Given the description of an element on the screen output the (x, y) to click on. 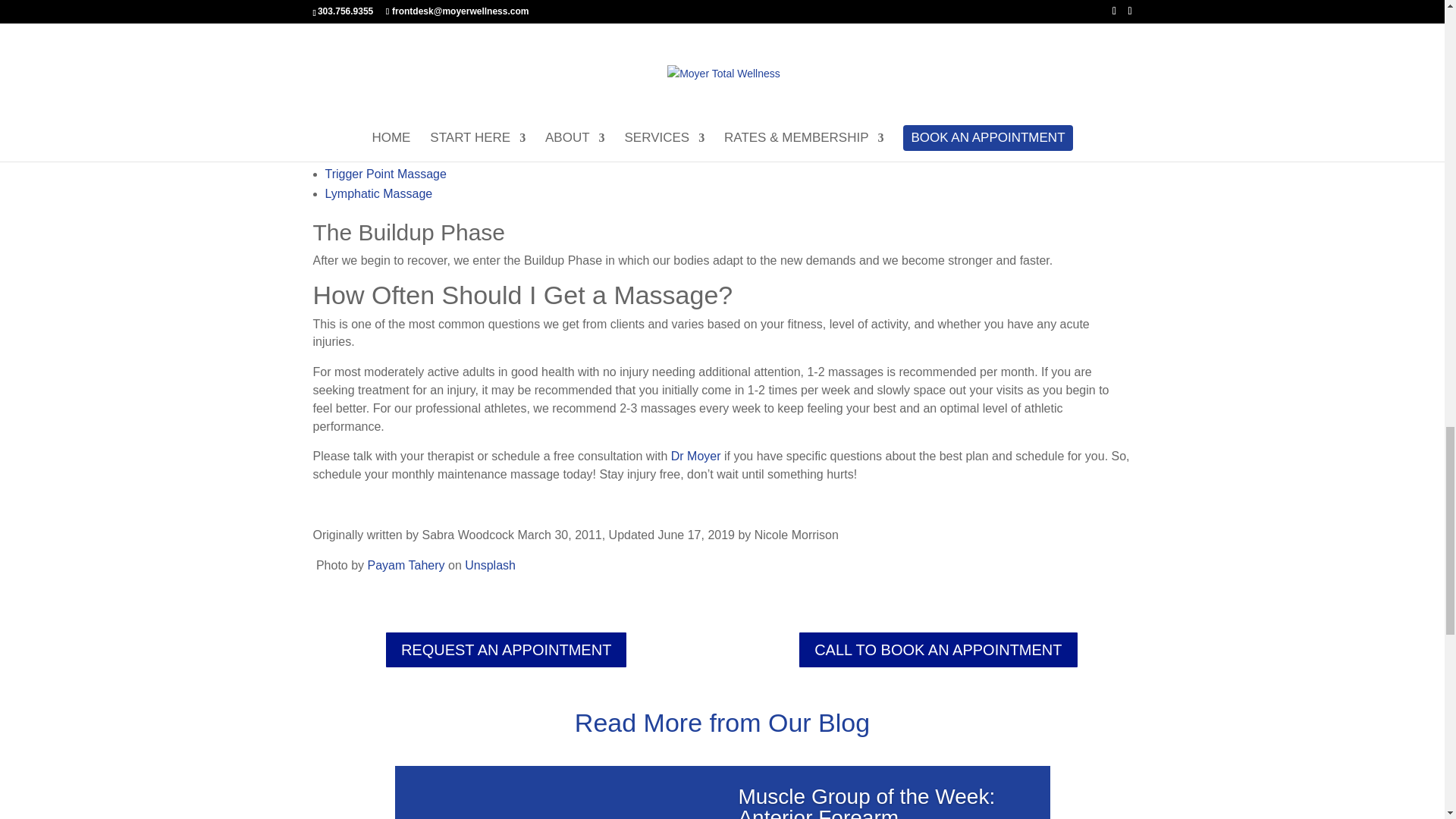
Sports massage therapy (816, 45)
